Given the description of an element on the screen output the (x, y) to click on. 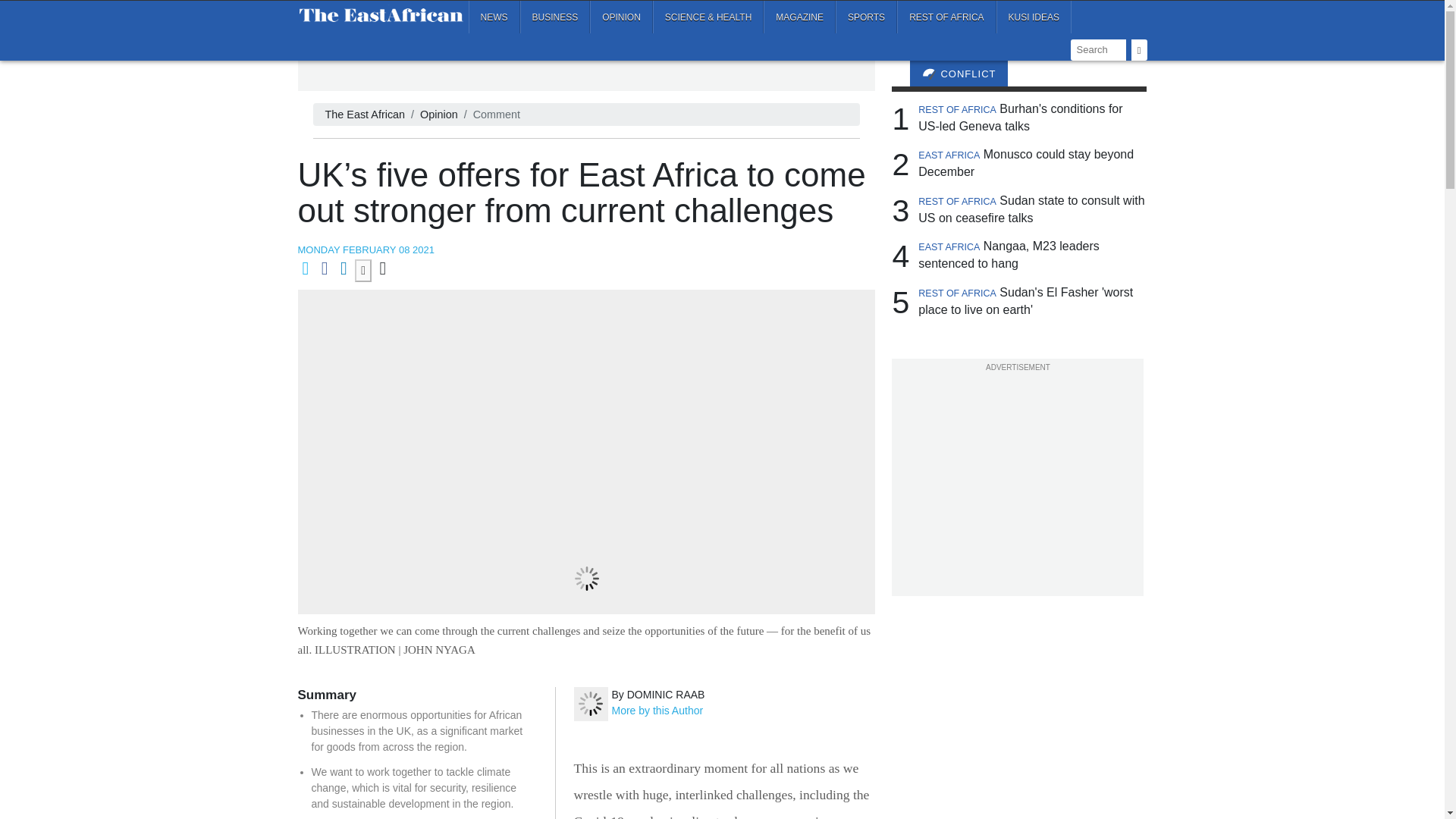
NEWS (493, 16)
BUSINESS (555, 16)
OPINION (620, 16)
MAGAZINE (798, 16)
SPORTS (865, 16)
